Given the description of an element on the screen output the (x, y) to click on. 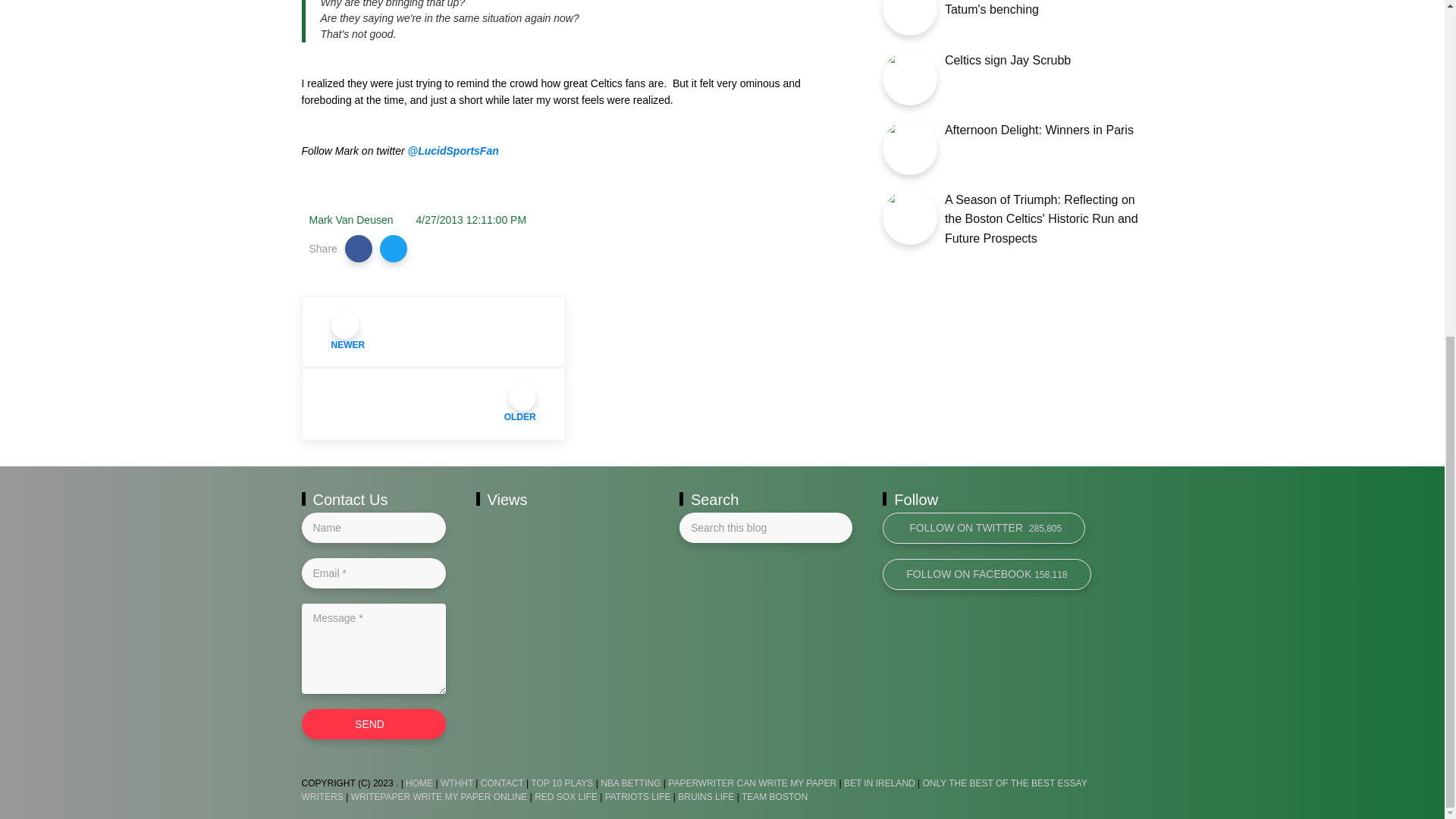
permanent link (471, 219)
Mark Van Deusen (350, 219)
NEWER (433, 331)
Share to Facebook (358, 248)
author profile (350, 219)
OLDER (433, 403)
Share to Twitter (393, 248)
